Given the description of an element on the screen output the (x, y) to click on. 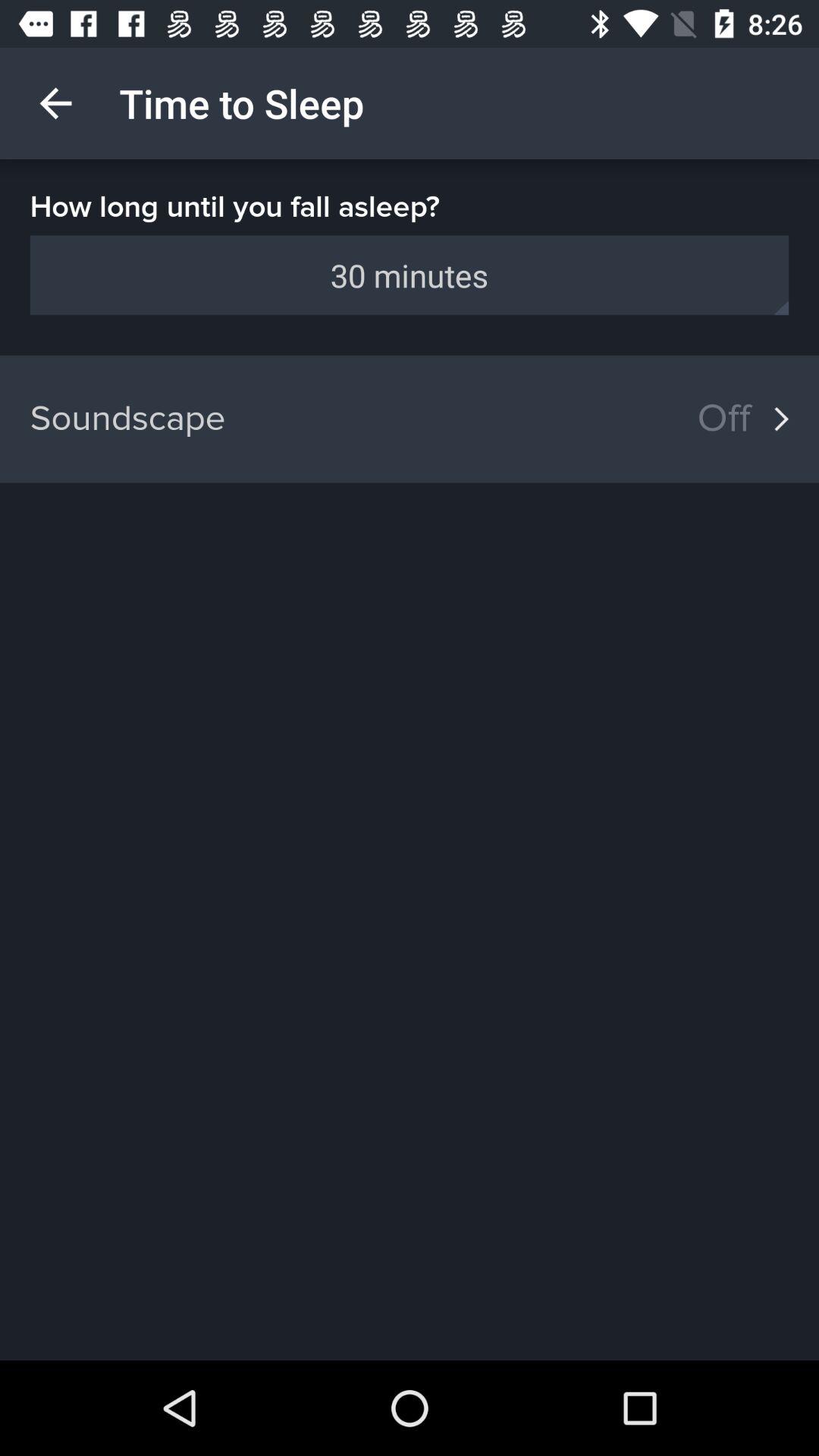
launch the icon next to time to sleep (55, 103)
